Given the description of an element on the screen output the (x, y) to click on. 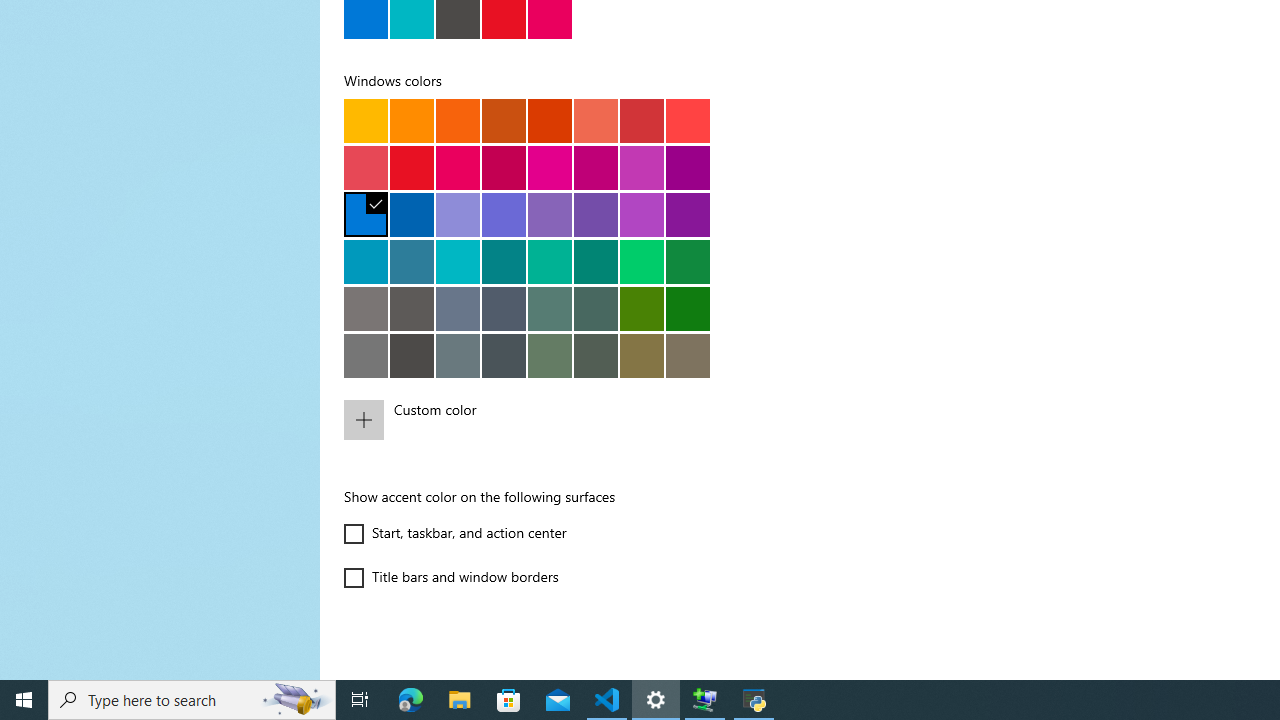
Storm (411, 355)
Seafoam teal (504, 261)
Liddy green (549, 355)
Mint light (549, 261)
Orchid (687, 167)
Gray dark (504, 355)
Pale red (365, 167)
Pale moss (549, 308)
Blue gray (458, 355)
Iris Spring (595, 214)
Plum (595, 167)
